Given the description of an element on the screen output the (x, y) to click on. 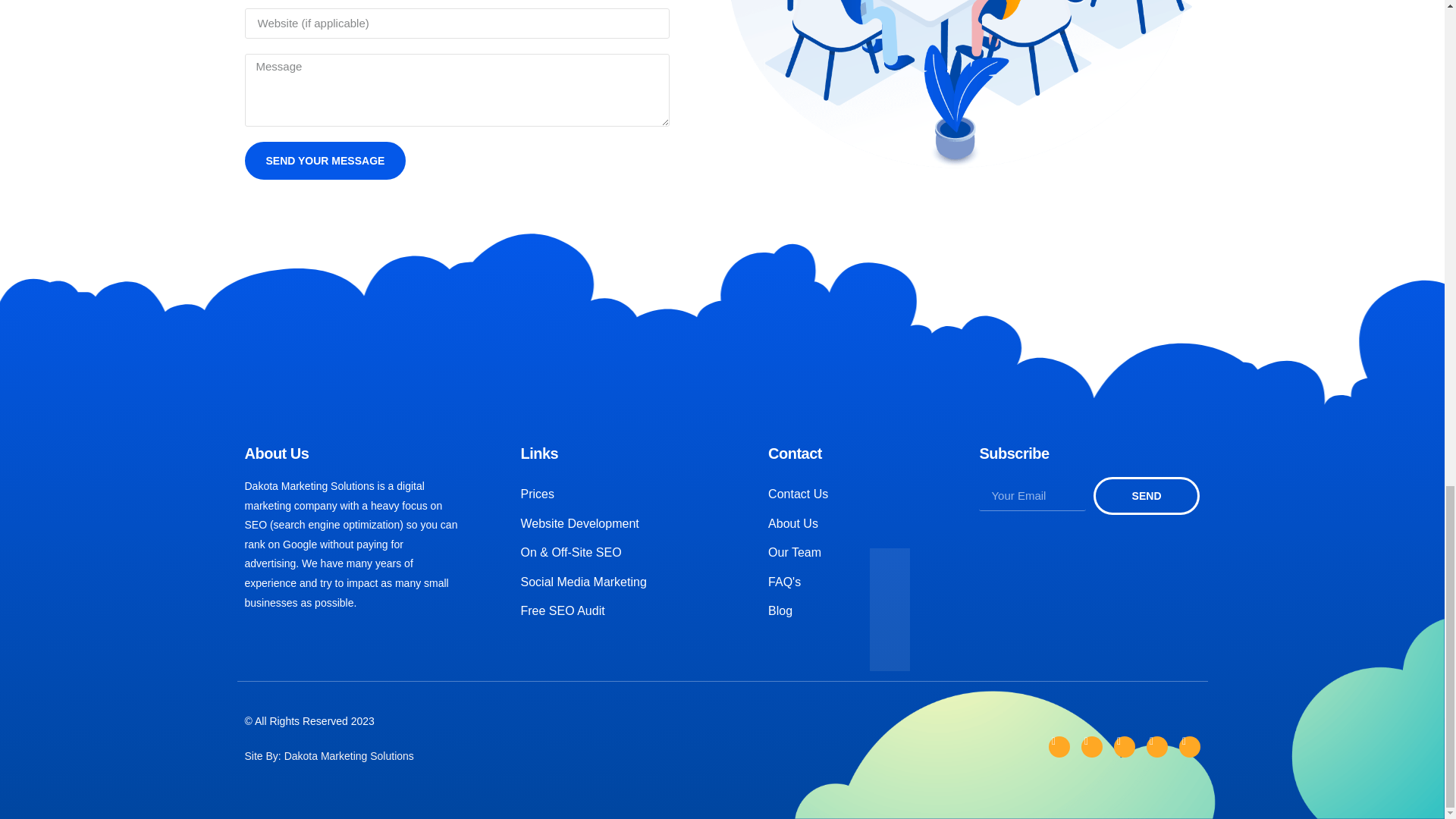
Free SEO Audit (613, 610)
Prices (613, 494)
SEND YOUR MESSAGE (325, 160)
Contact Us (843, 494)
Social Media Marketing (613, 582)
Website Development (613, 523)
